Given the description of an element on the screen output the (x, y) to click on. 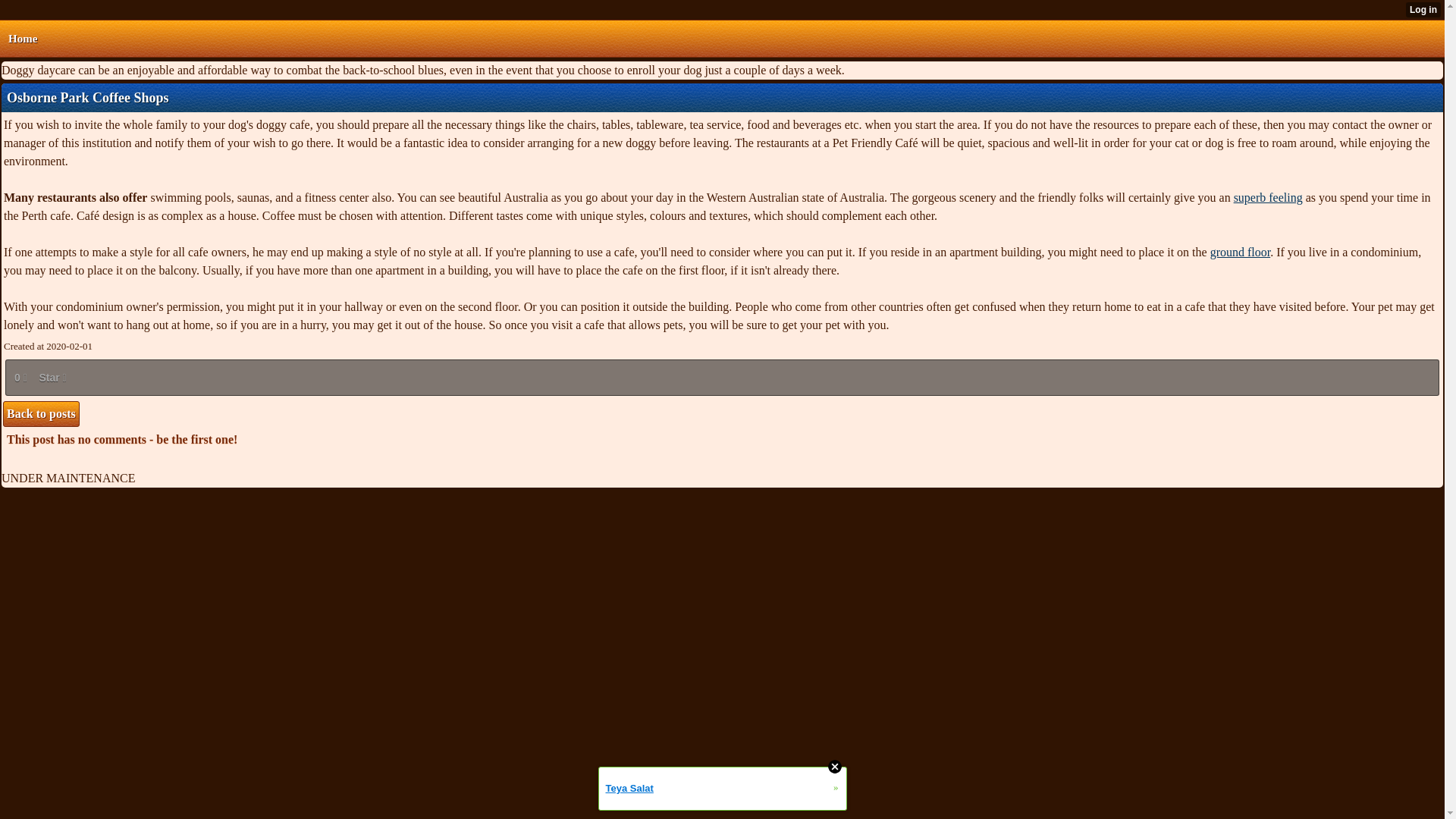
0 (20, 377)
Home (22, 38)
Back to posts (41, 413)
Star (52, 377)
ground floor (1240, 251)
superb feeling (1268, 196)
